Given the description of an element on the screen output the (x, y) to click on. 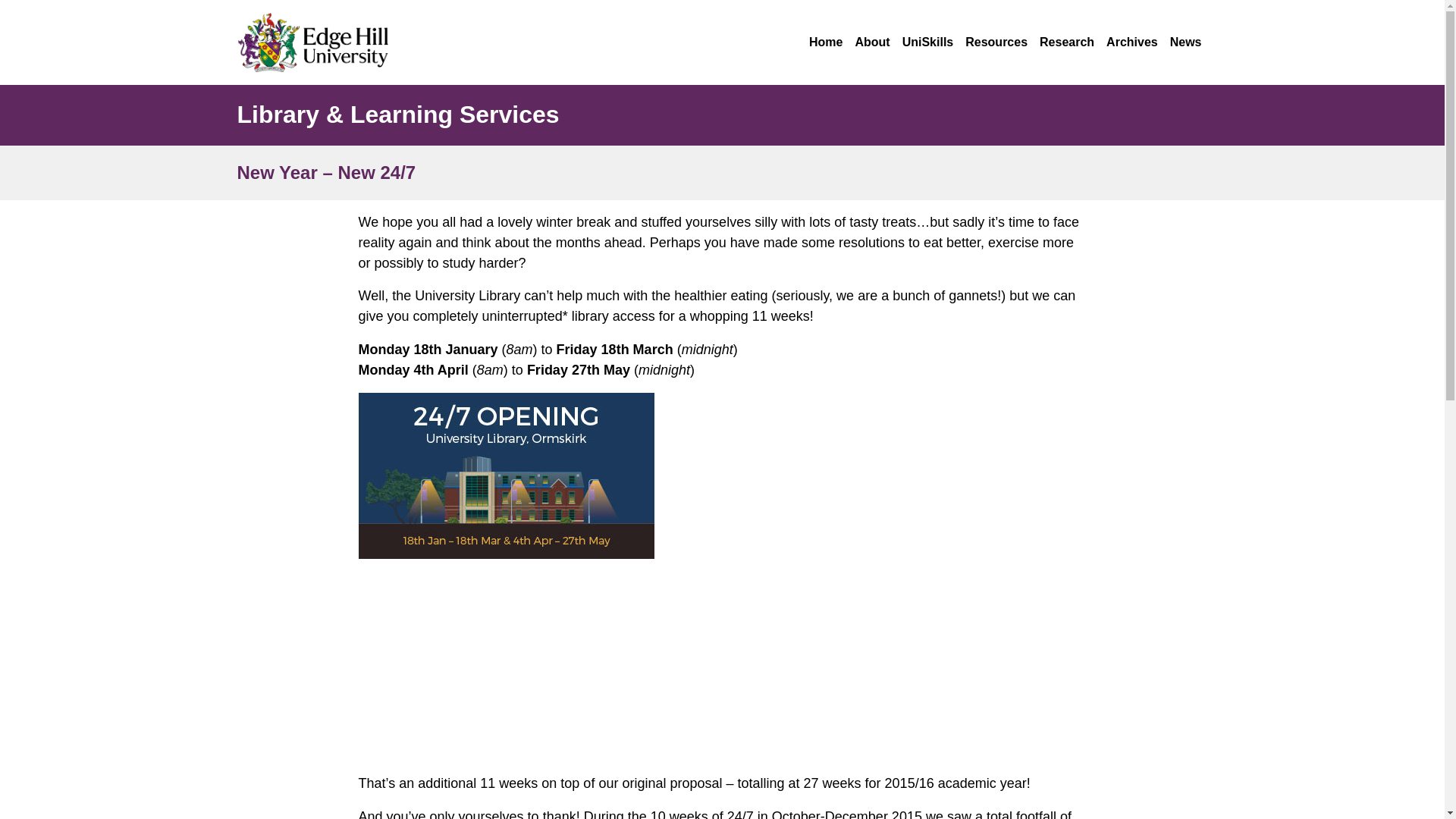
About (871, 42)
UniSkills (927, 42)
Research (1066, 42)
Resources (996, 42)
Archives (1131, 42)
Home (826, 42)
News (1186, 42)
